Given the description of an element on the screen output the (x, y) to click on. 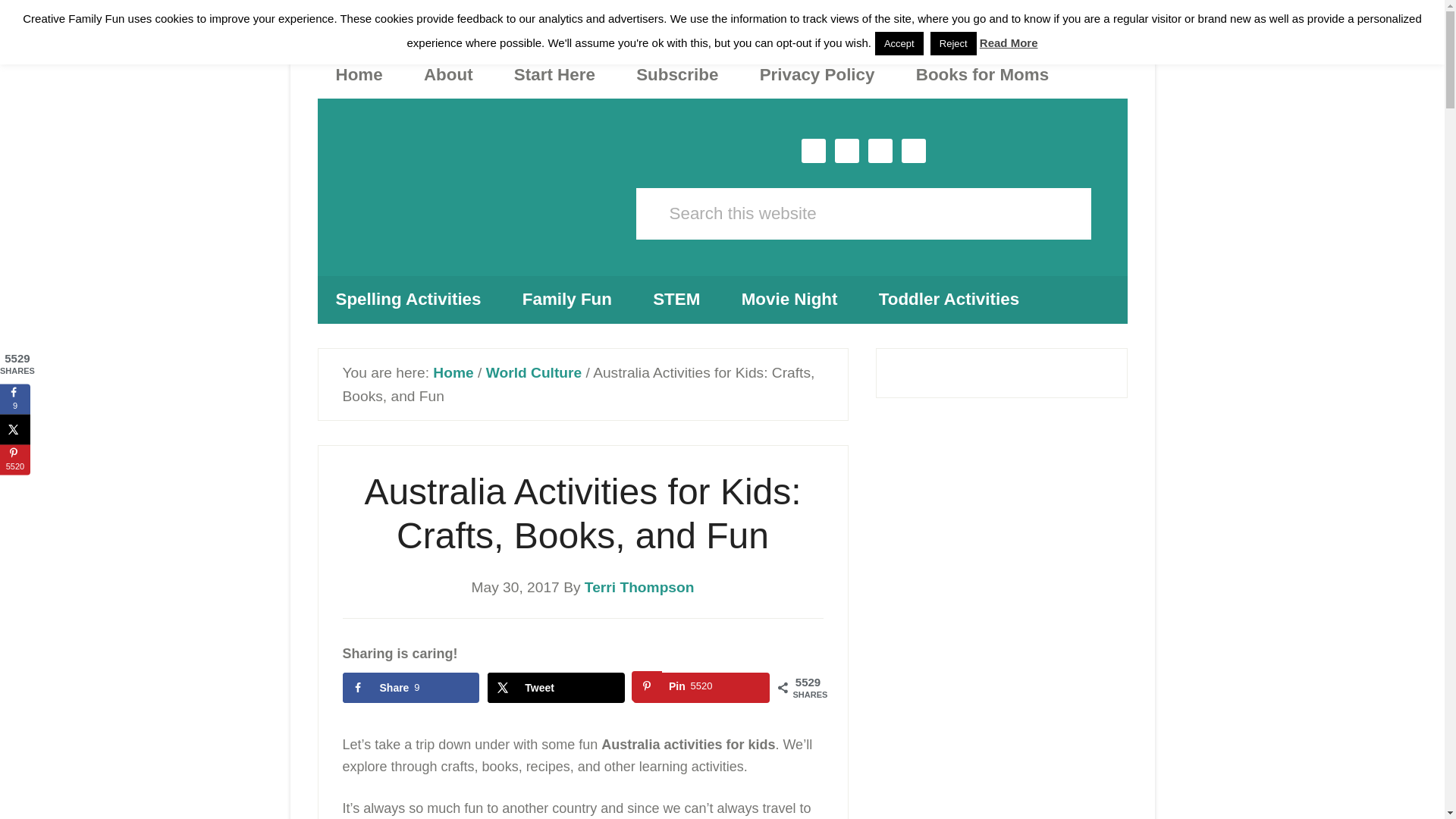
Tweet (701, 687)
Home (555, 687)
Creative Family Fun (452, 372)
Spelling Activities (474, 176)
Save to Pinterest (408, 299)
Privacy Policy (15, 459)
Family Fun (817, 74)
Movie Night (566, 299)
Terri Thompson (789, 299)
Share on X (639, 587)
Home (555, 687)
Skip to secondary menu (358, 74)
Share on Facebook (15, 429)
